Given the description of an element on the screen output the (x, y) to click on. 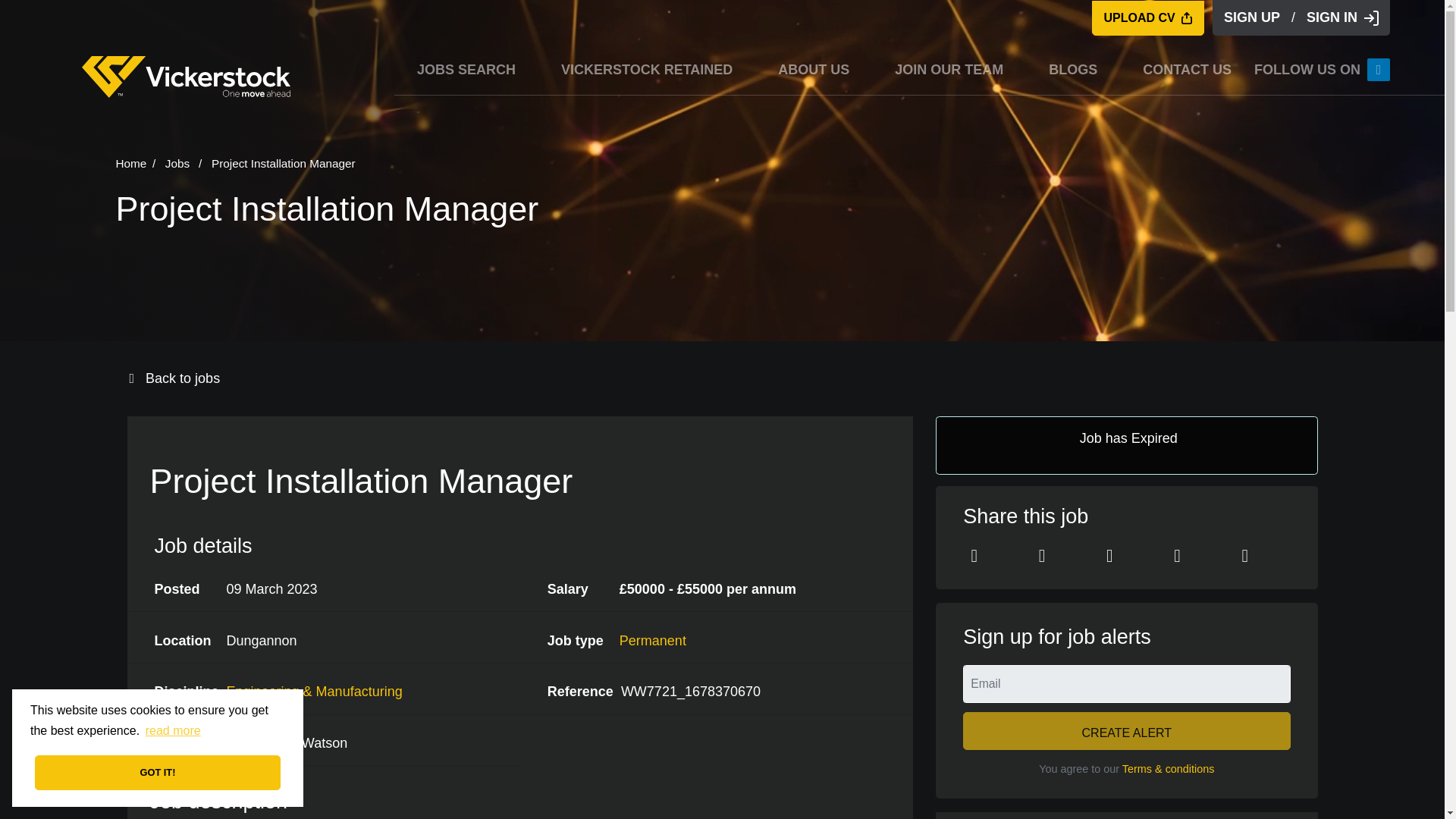
CONTACT US (1186, 69)
FOLLOW US ON (1321, 69)
GOT IT! (156, 772)
read more (172, 730)
Go to the Homepage (187, 76)
JOIN OUR TEAM (949, 69)
SIGN UP (1251, 18)
ABOUT US (812, 69)
JOBS SEARCH (465, 69)
SIGN IN (1342, 18)
